Given the description of an element on the screen output the (x, y) to click on. 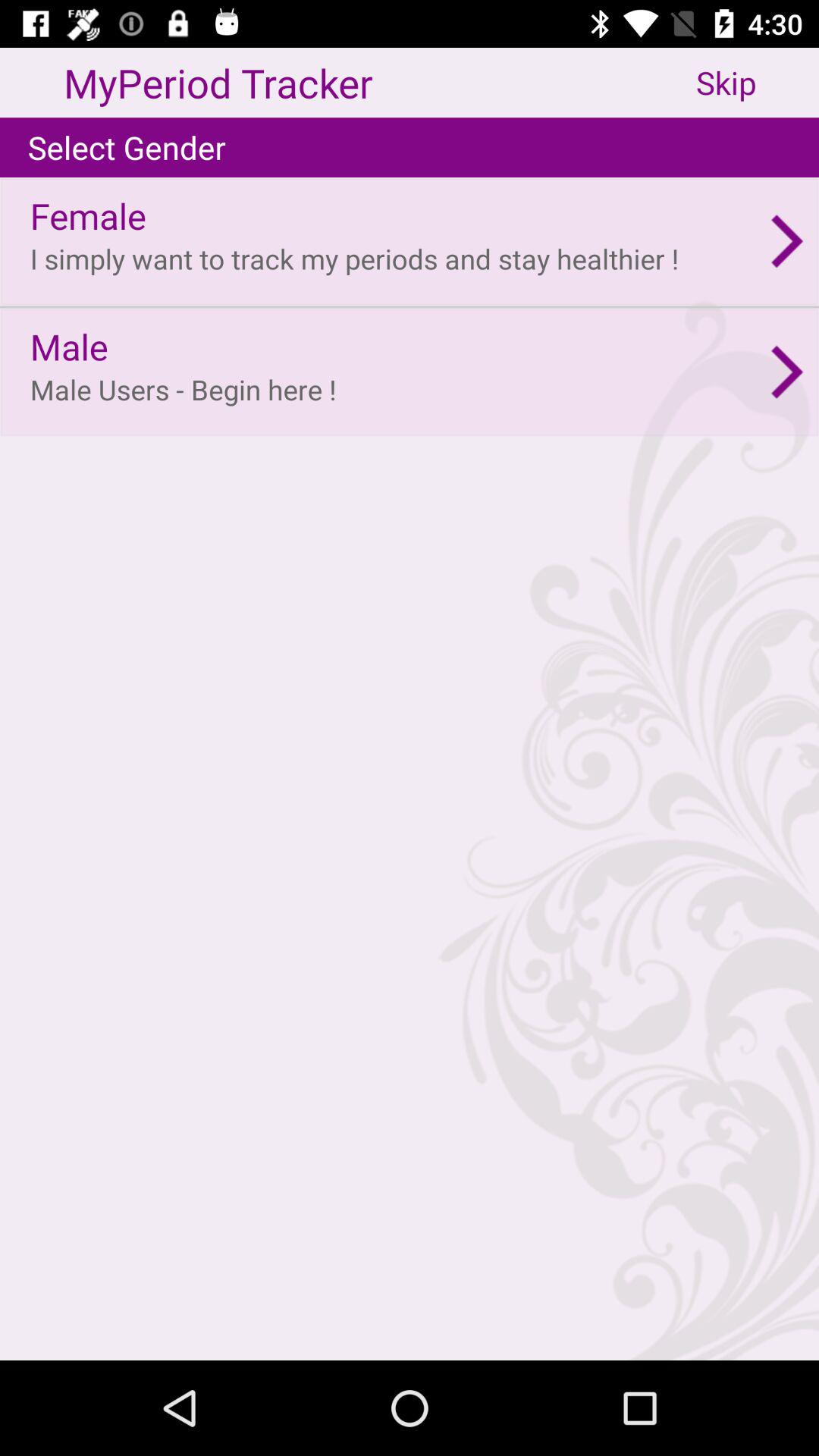
jump until the skip app (757, 82)
